Given the description of an element on the screen output the (x, y) to click on. 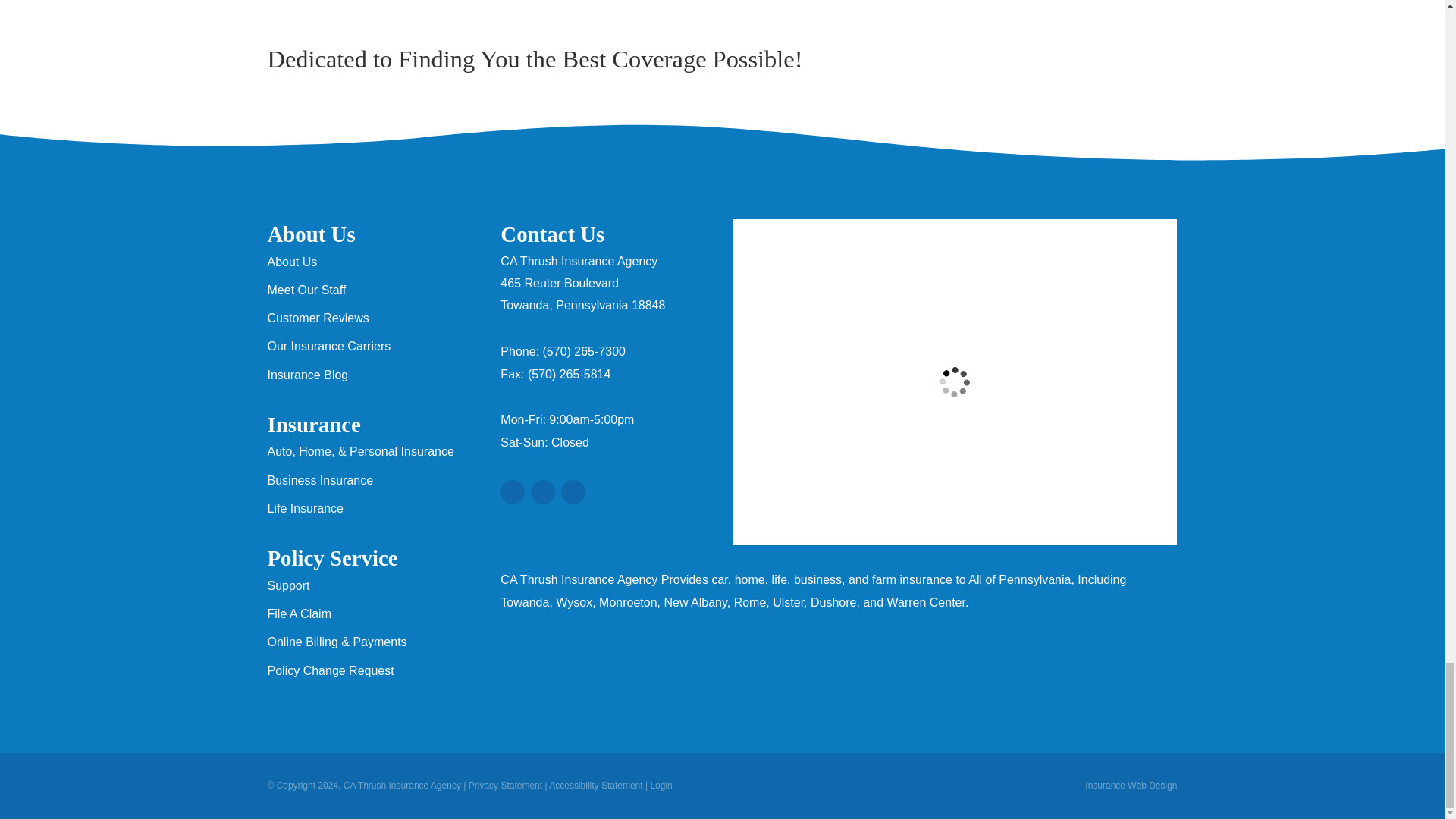
Facebook (542, 491)
Google Maps (512, 491)
LinkedIn (572, 491)
